Given the description of an element on the screen output the (x, y) to click on. 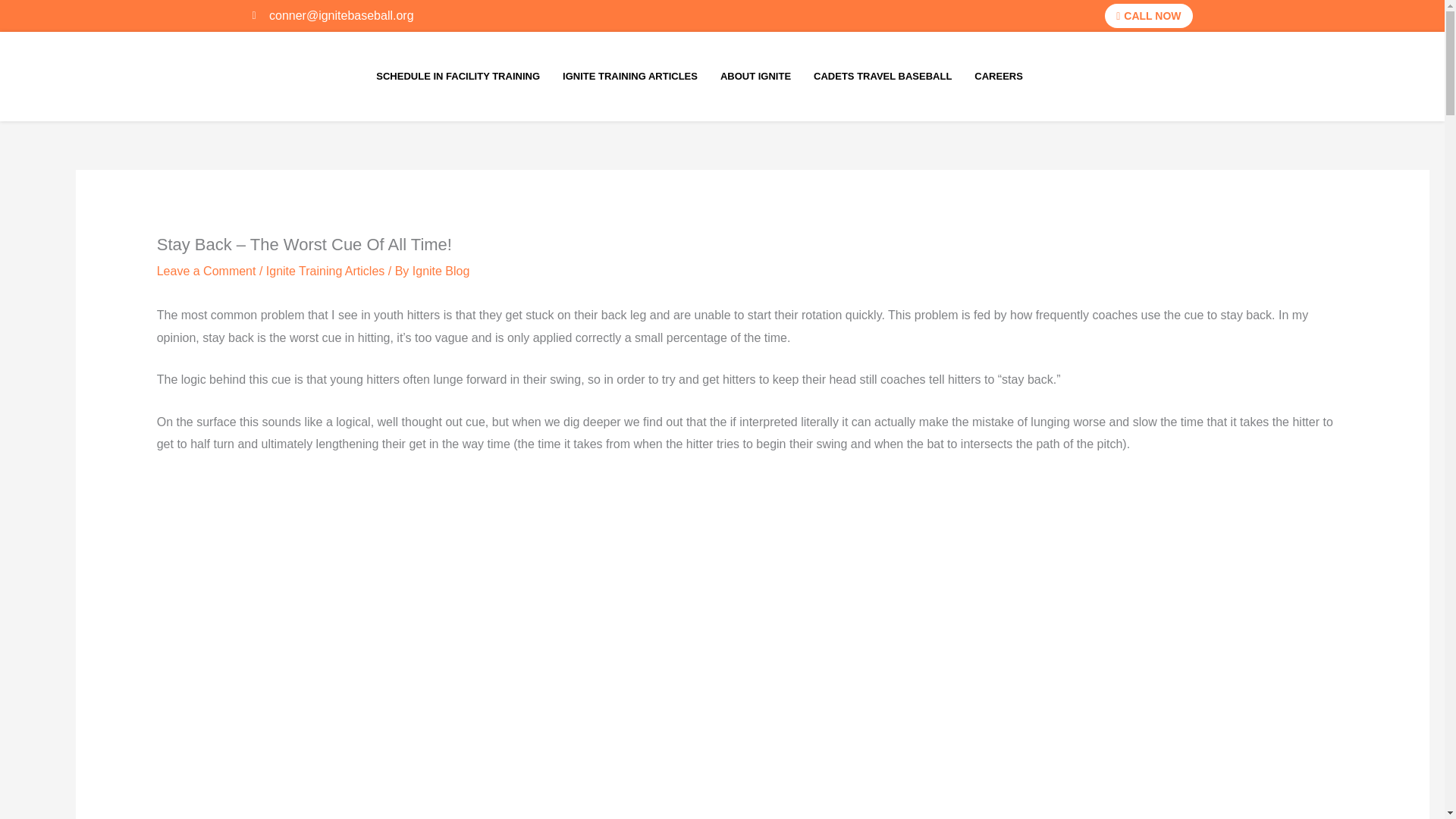
Ignite Training Articles (325, 270)
CADETS TRAVEL BASEBALL (882, 76)
ABOUT IGNITE (755, 76)
SCHEDULE IN FACILITY TRAINING (458, 76)
CAREERS (997, 76)
IGNITE TRAINING ARTICLES (630, 76)
Ignite Blog (441, 270)
Leave a Comment (206, 270)
CALL NOW (1148, 15)
